Given the description of an element on the screen output the (x, y) to click on. 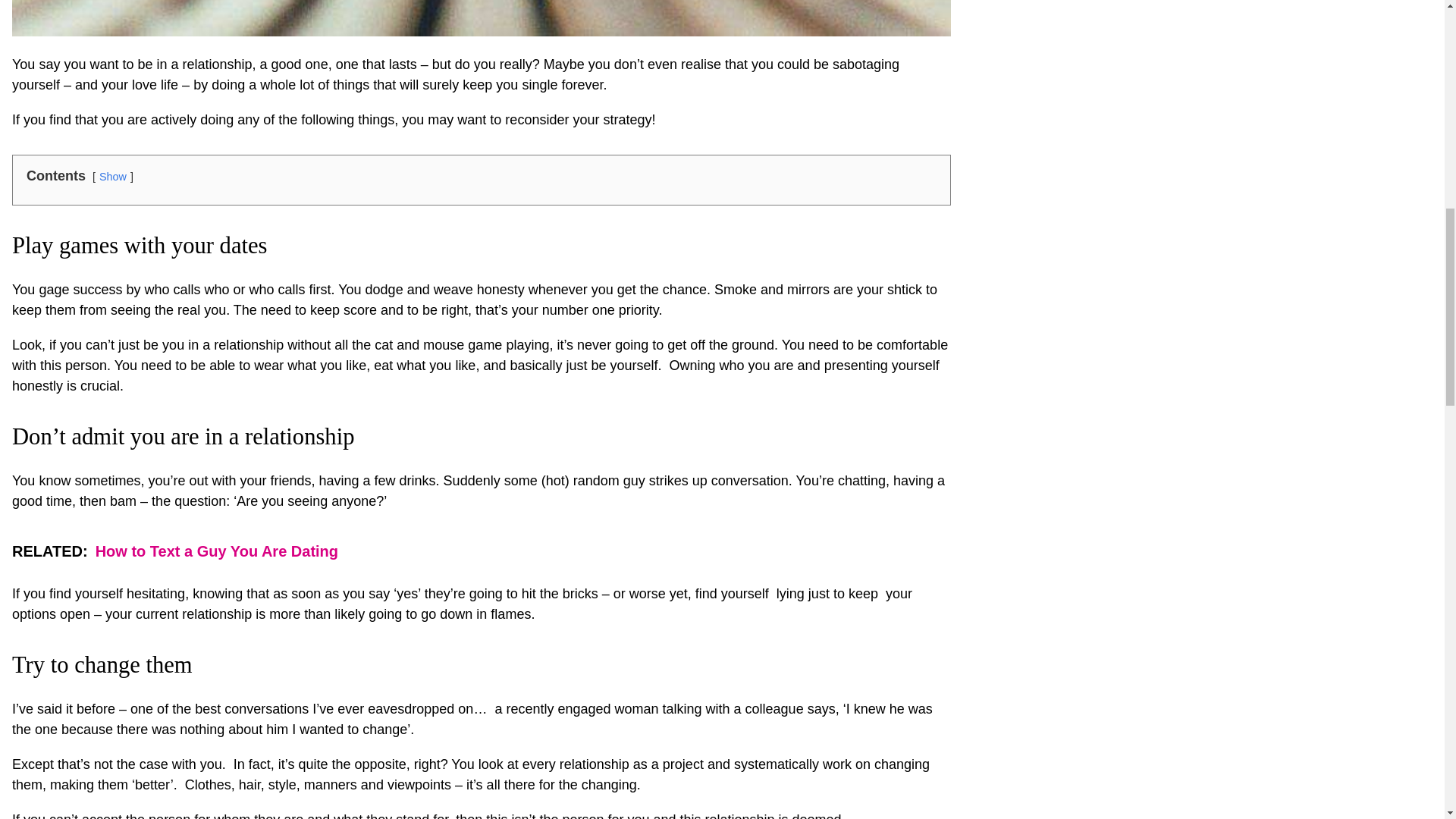
RELATED:  How to Text a Guy You Are Dating (480, 551)
Show (112, 176)
